Given the description of an element on the screen output the (x, y) to click on. 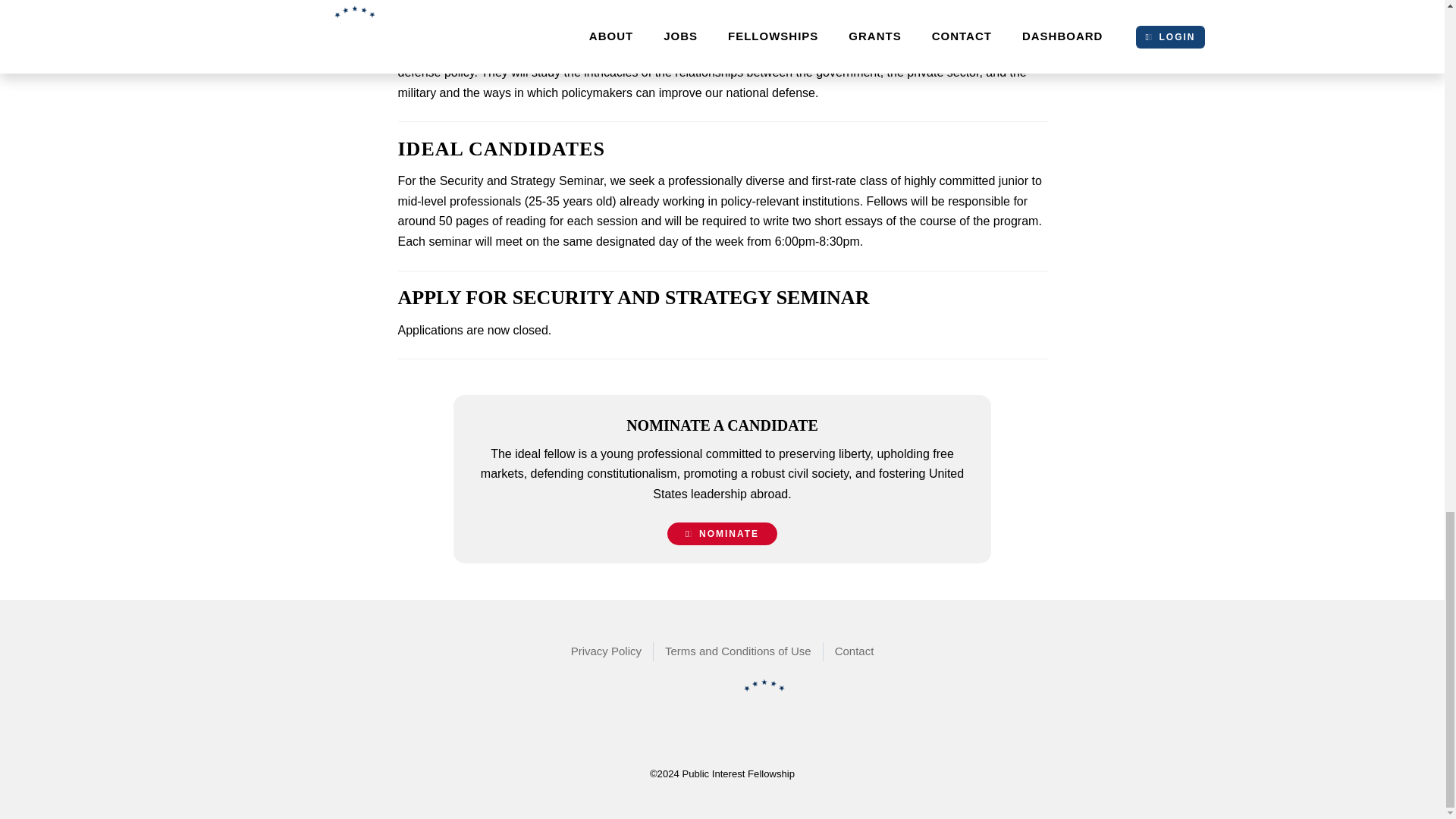
Privacy Policy (606, 651)
NOMINATE (721, 533)
Terms and Conditions of Use (738, 651)
Contact (854, 651)
